Given the description of an element on the screen output the (x, y) to click on. 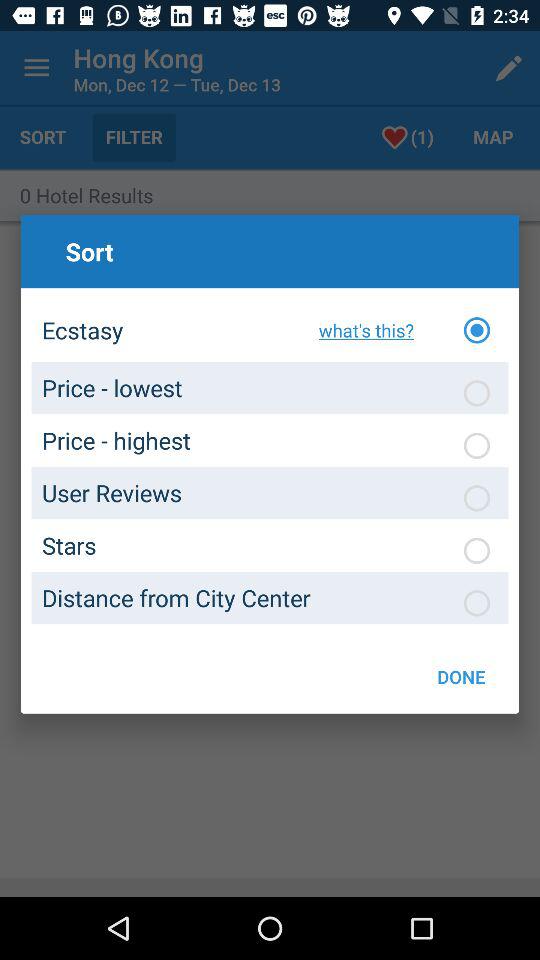
sort by distance to city center (477, 603)
